Given the description of an element on the screen output the (x, y) to click on. 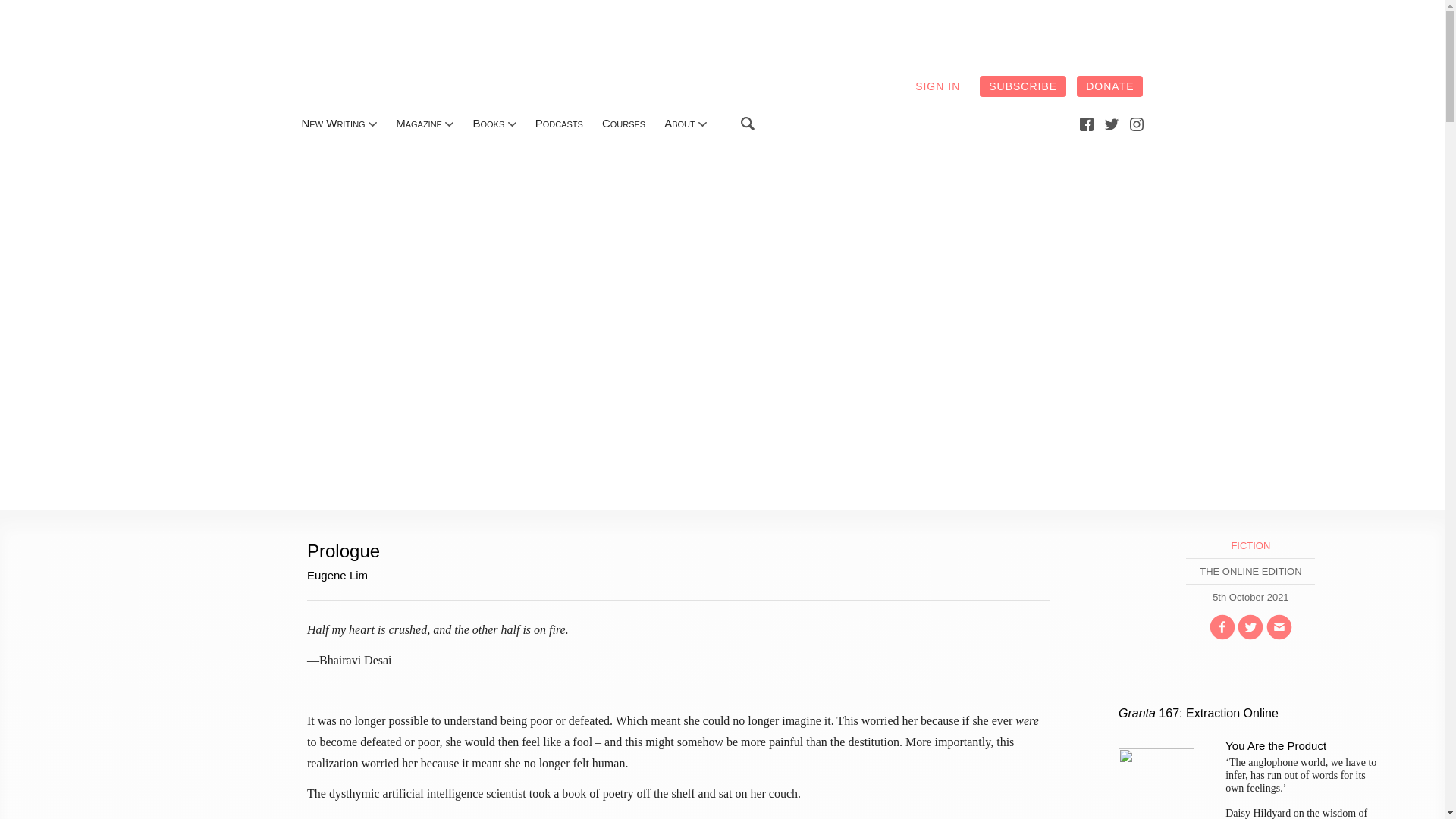
SUBSCRIBE (1022, 86)
New Writing (333, 123)
podcasts (559, 123)
books (487, 123)
SIGN IN (937, 86)
magazine (419, 123)
facebook Created with Sketch. (1086, 123)
instagram Created with Sketch. (1135, 124)
About (679, 123)
twitter Created with Sketch. (1111, 123)
